Given the description of an element on the screen output the (x, y) to click on. 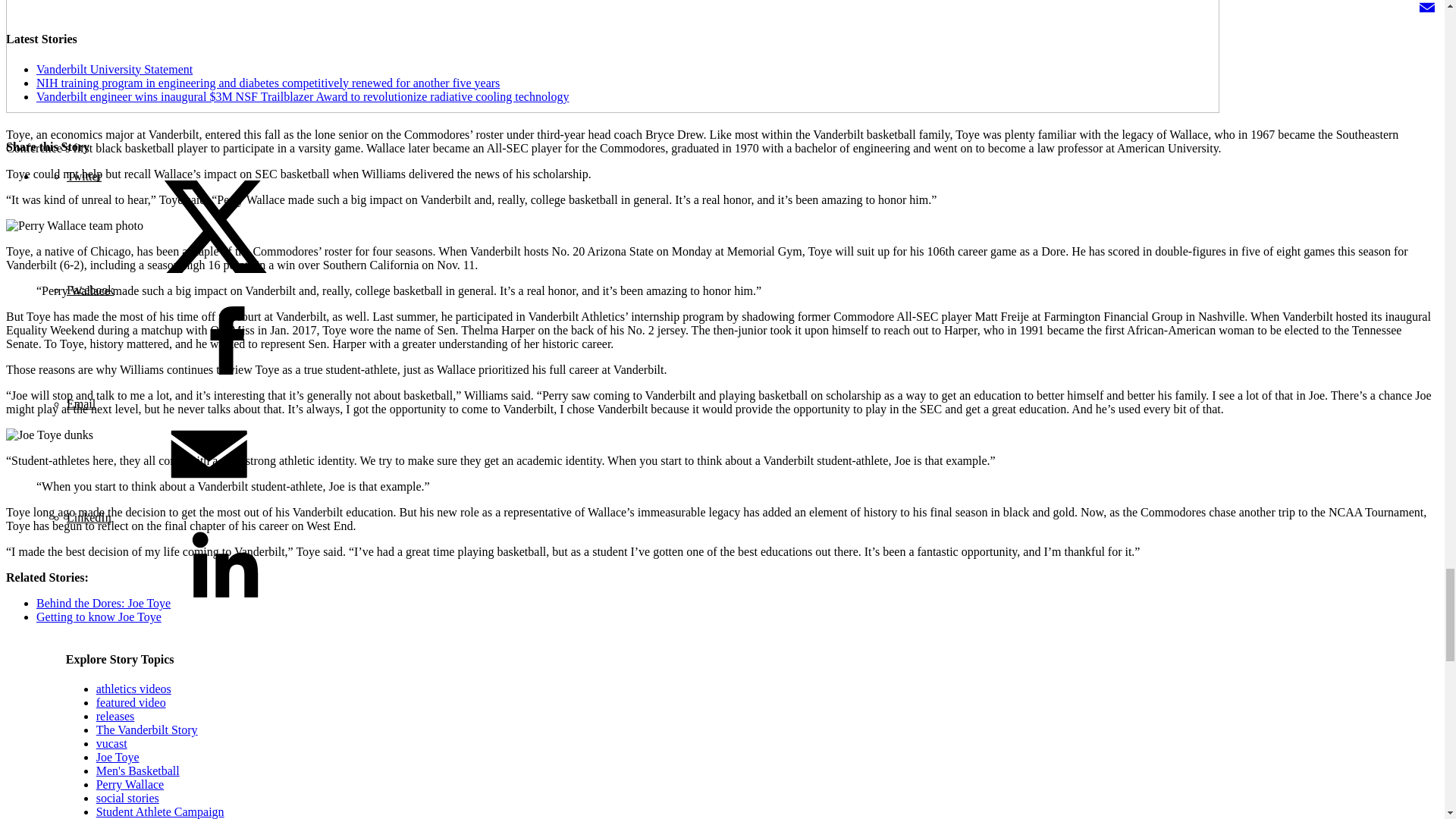
Getting to know Joe Toye (98, 616)
athletics videos (133, 688)
releases (115, 716)
featured video (130, 702)
Behind the Dores: Joe Toye (103, 603)
